Given the description of an element on the screen output the (x, y) to click on. 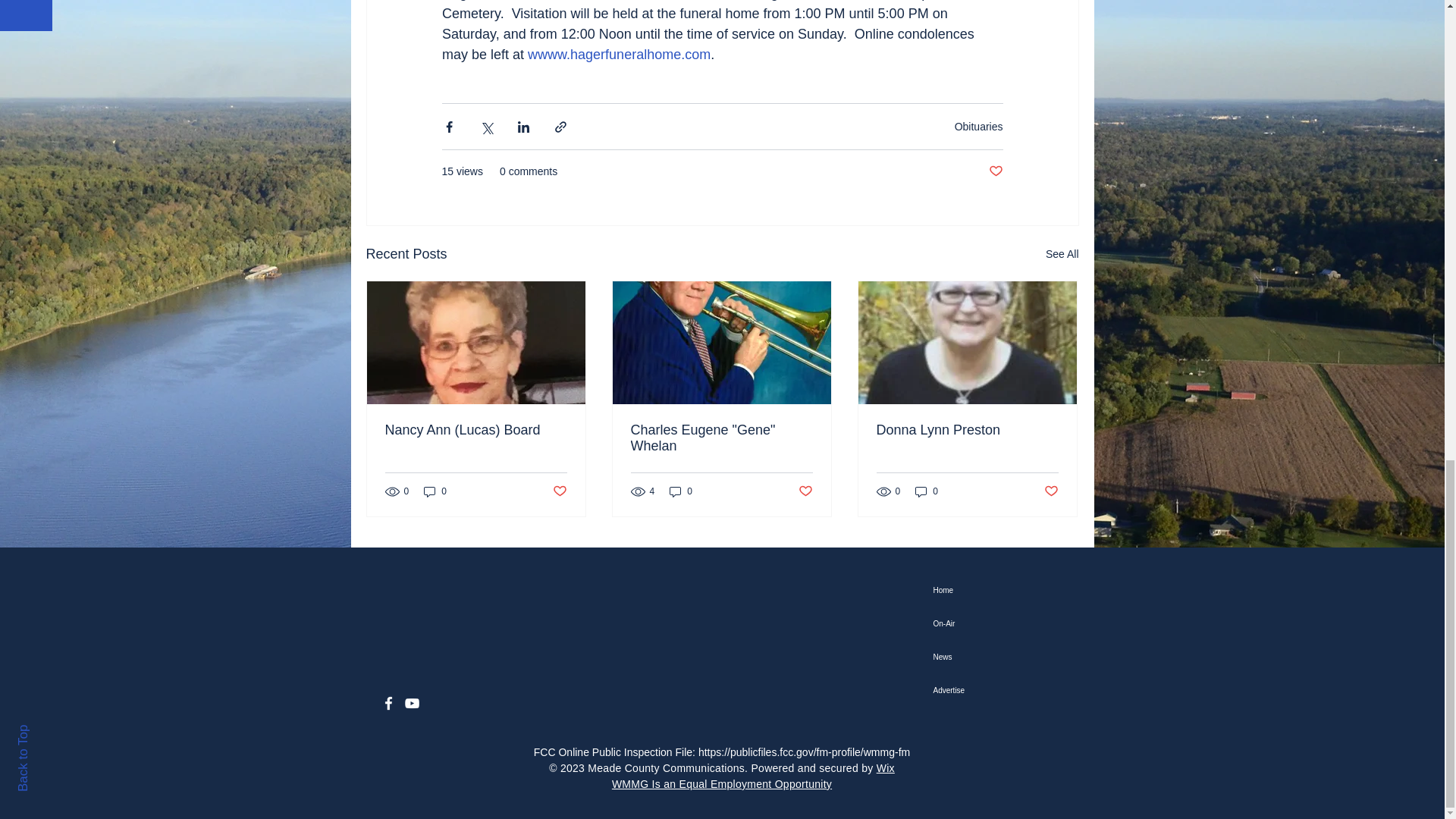
wwww.hagerfuneralhome.com (618, 54)
Post not marked as liked (804, 490)
Post not marked as liked (1050, 490)
0 (435, 491)
Charles Eugene "Gene" Whelan (721, 438)
Post not marked as liked (995, 171)
0 (681, 491)
0 (926, 491)
See All (1061, 254)
Post not marked as liked (558, 490)
